Given the description of an element on the screen output the (x, y) to click on. 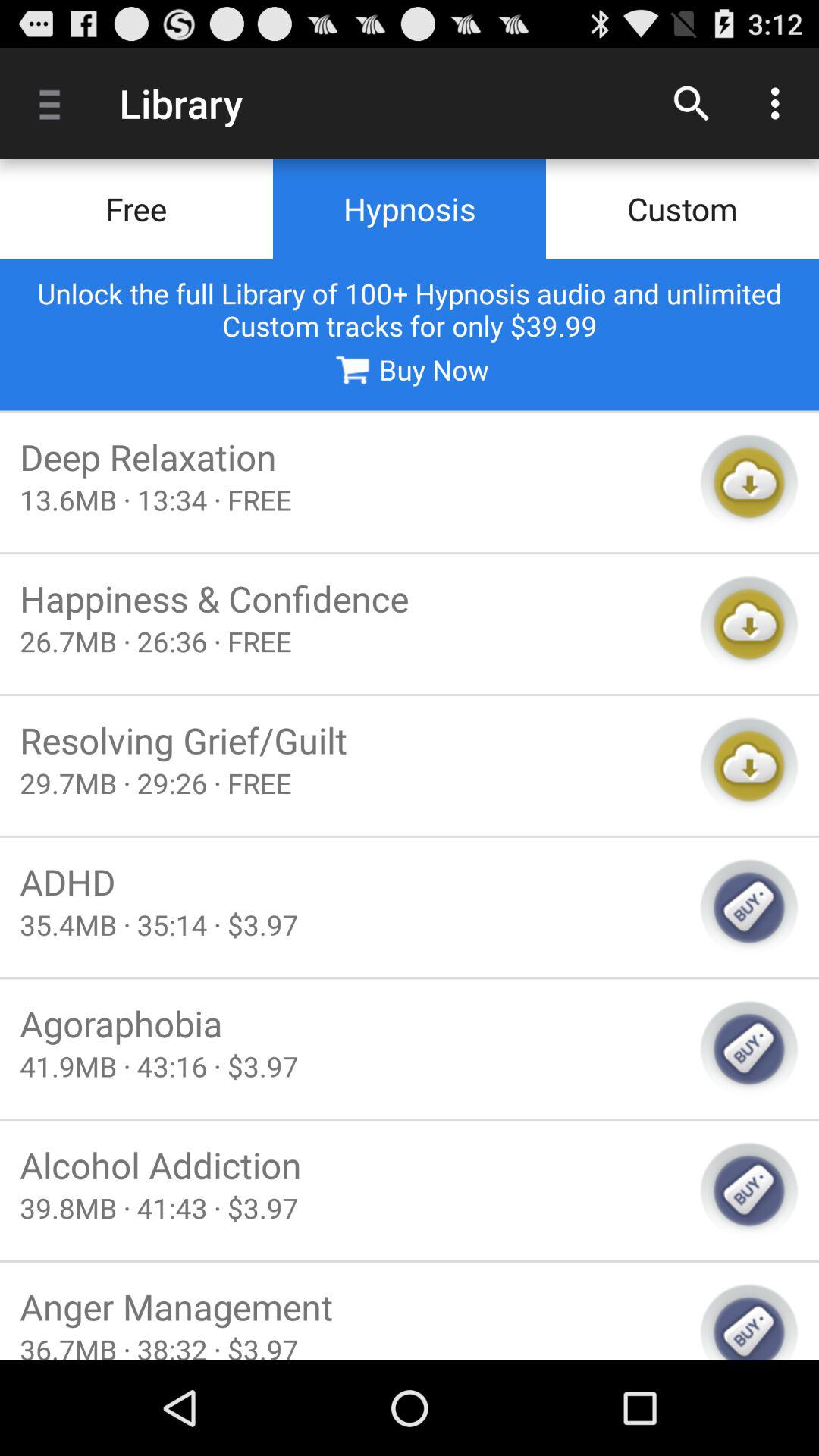
jump to 13 6mb 13 item (349, 499)
